Given the description of an element on the screen output the (x, y) to click on. 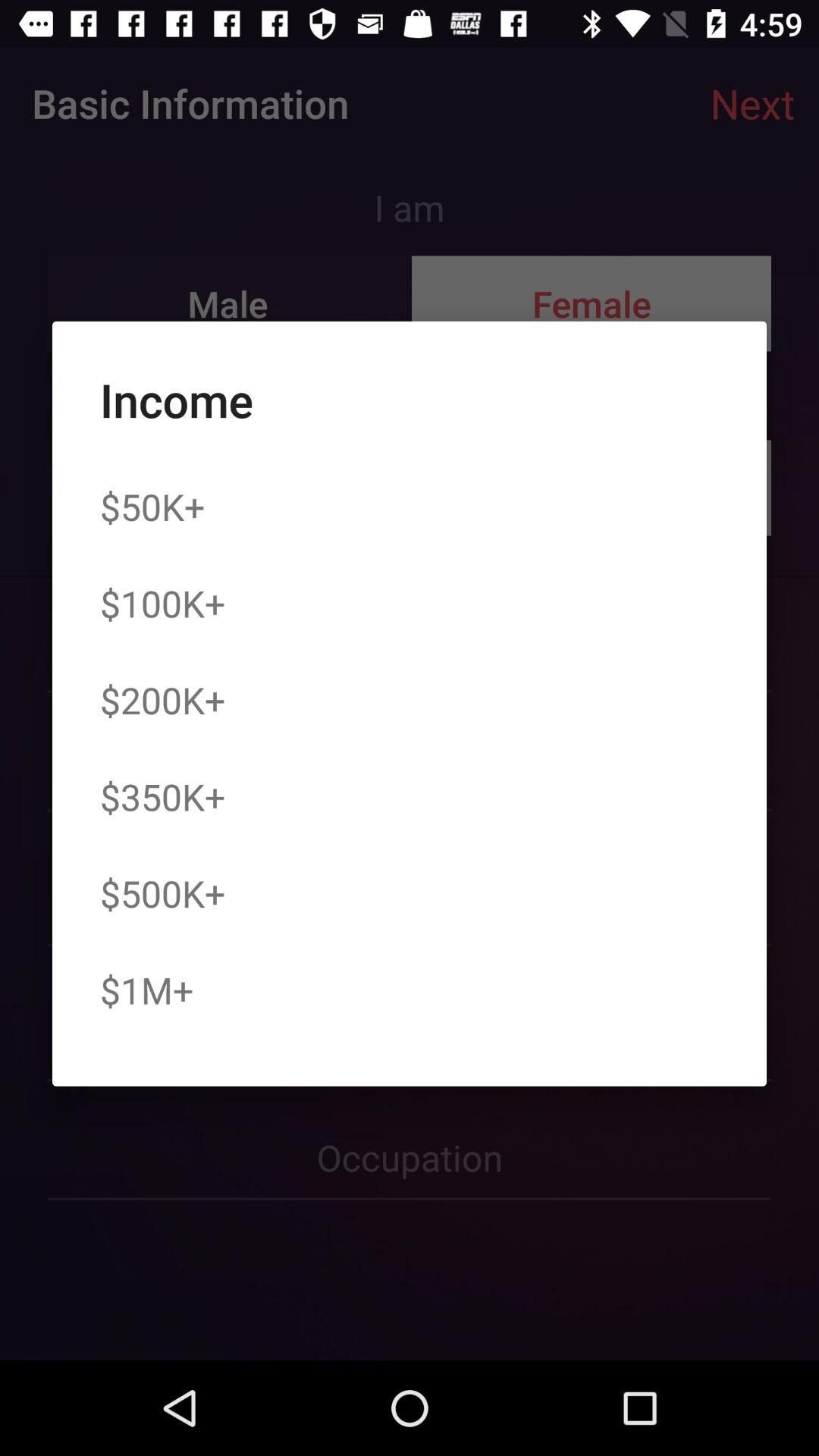
scroll to $1m+ icon (146, 989)
